Given the description of an element on the screen output the (x, y) to click on. 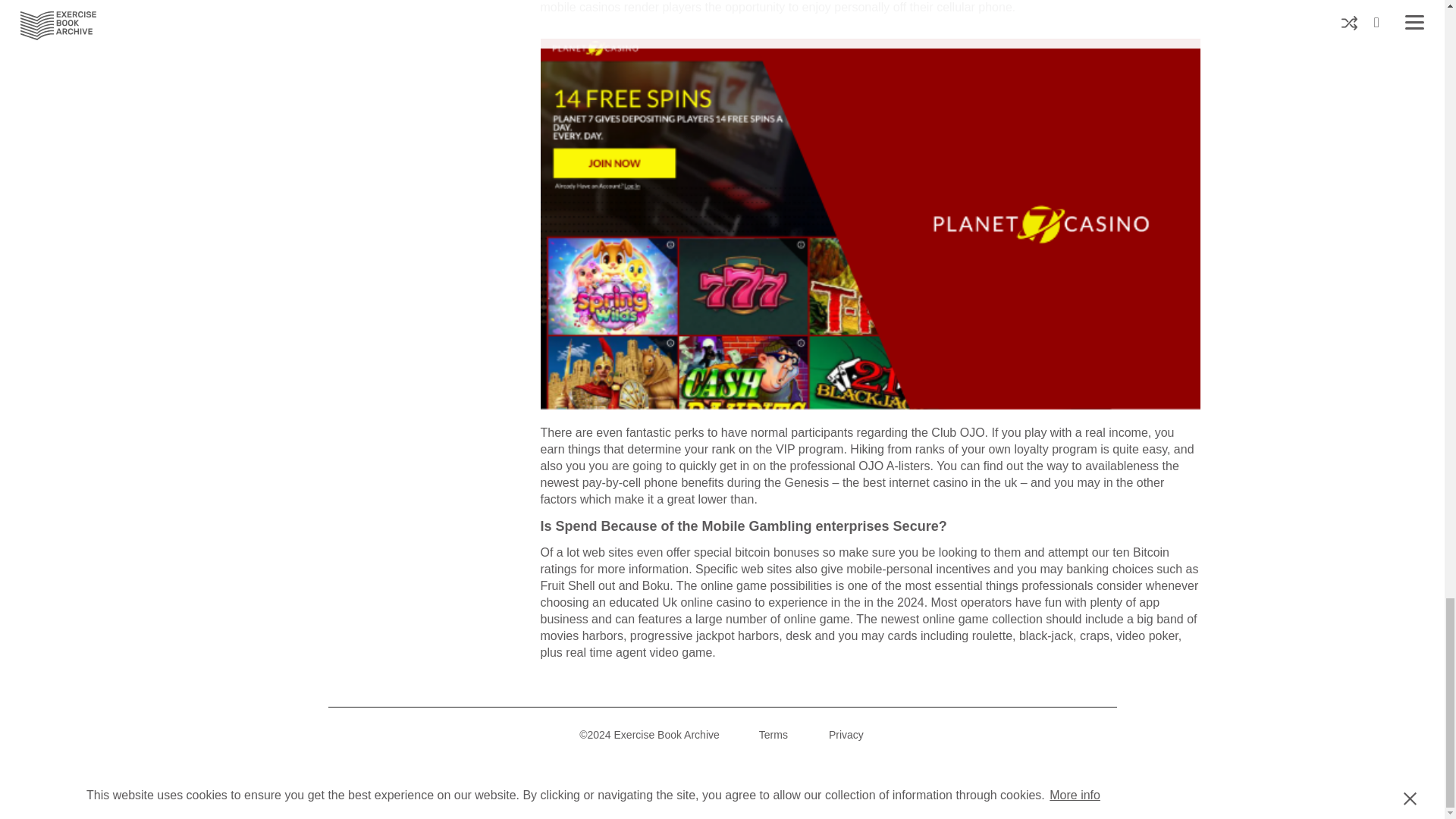
Terms (773, 734)
Privacy (845, 734)
